Given the description of an element on the screen output the (x, y) to click on. 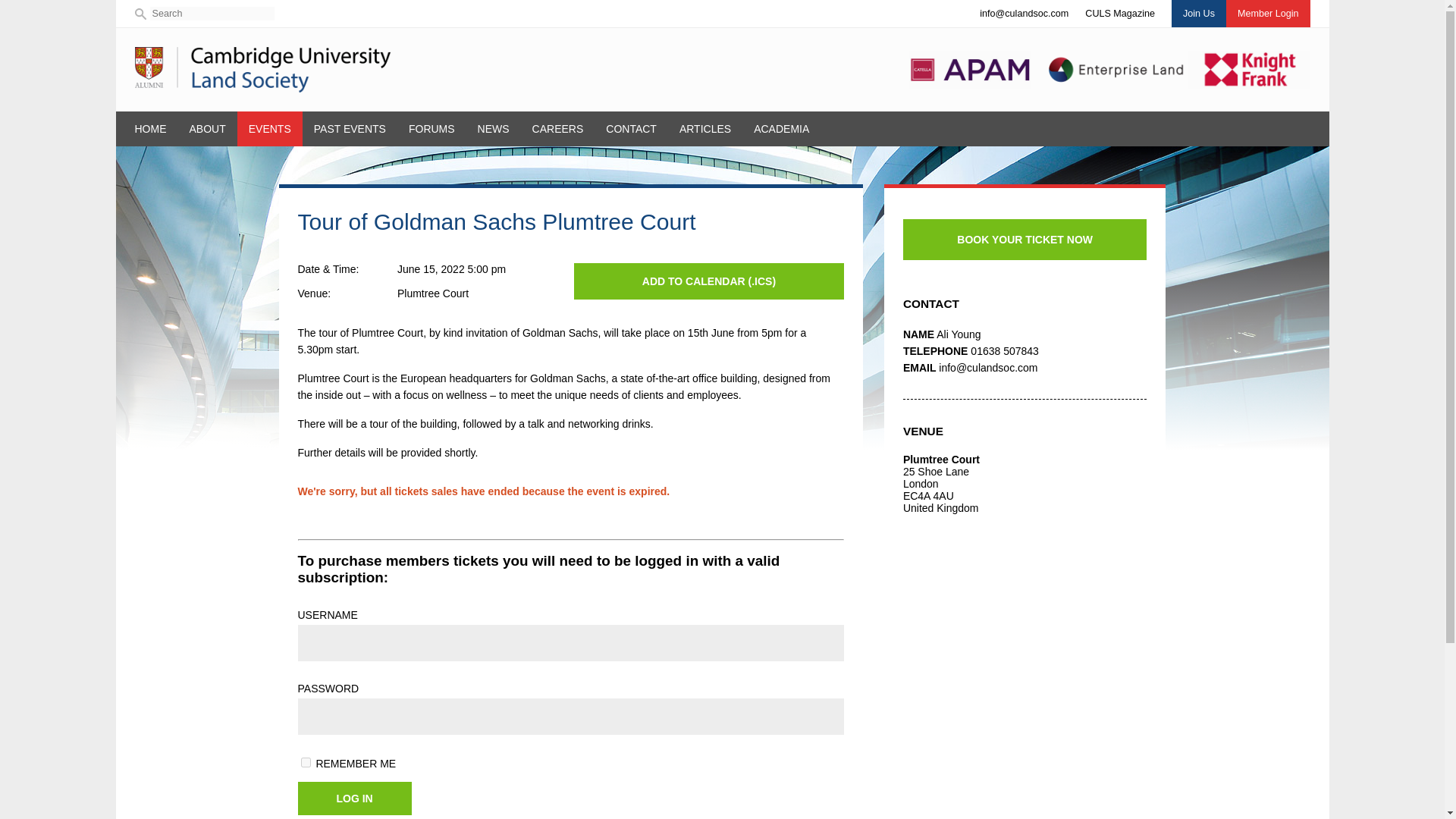
Log In (353, 798)
CONTACT (631, 128)
forever (304, 762)
EVENTS (269, 128)
CAREERS (558, 128)
Join Us (1198, 13)
BOOK YOUR TICKET NOW (1024, 239)
NEWS (493, 128)
HOME (149, 128)
ACADEMIA (781, 128)
